Given the description of an element on the screen output the (x, y) to click on. 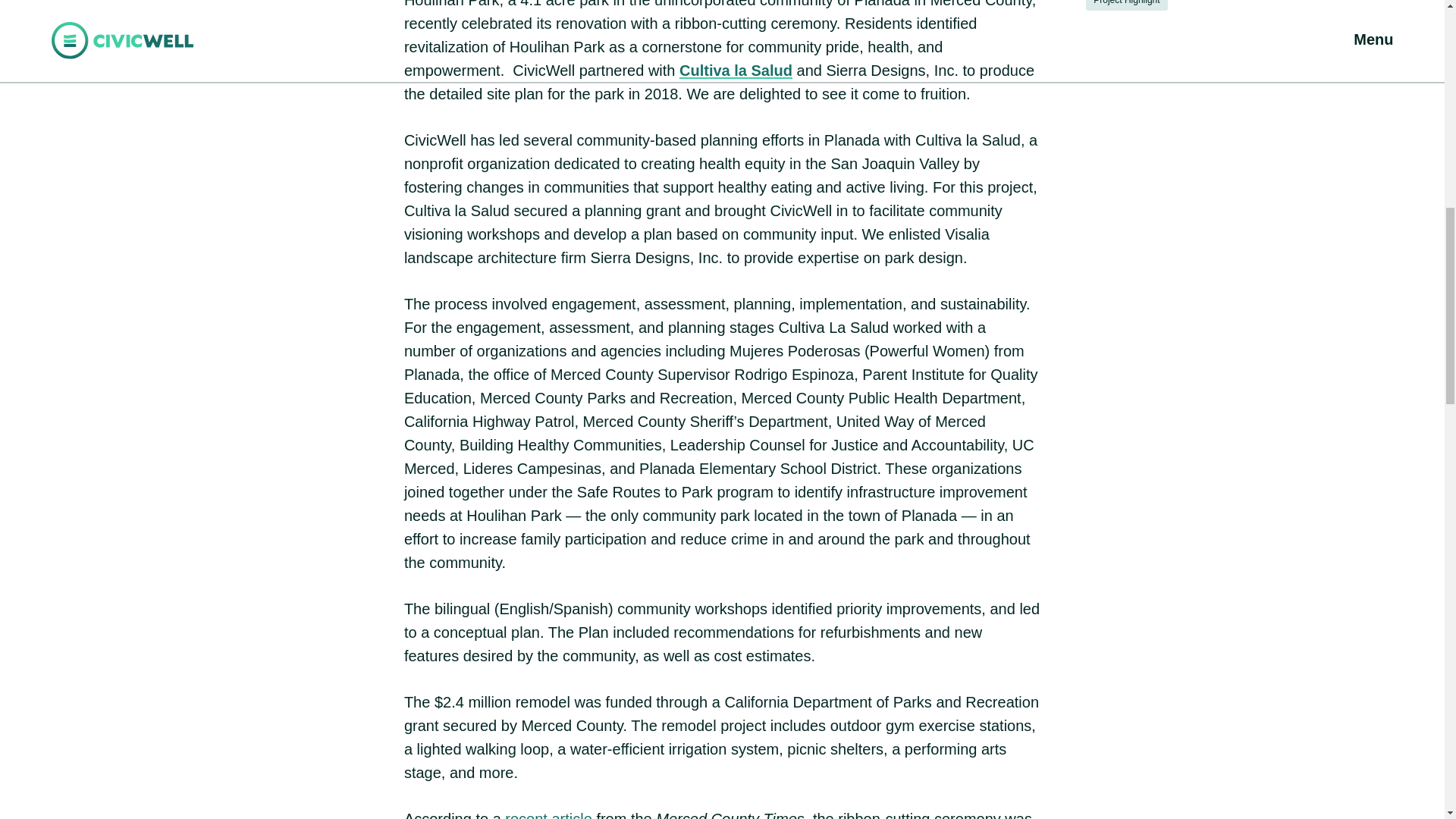
recent article (548, 814)
Project Highlight (1126, 5)
Cultiva la Salud (735, 70)
